Given the description of an element on the screen output the (x, y) to click on. 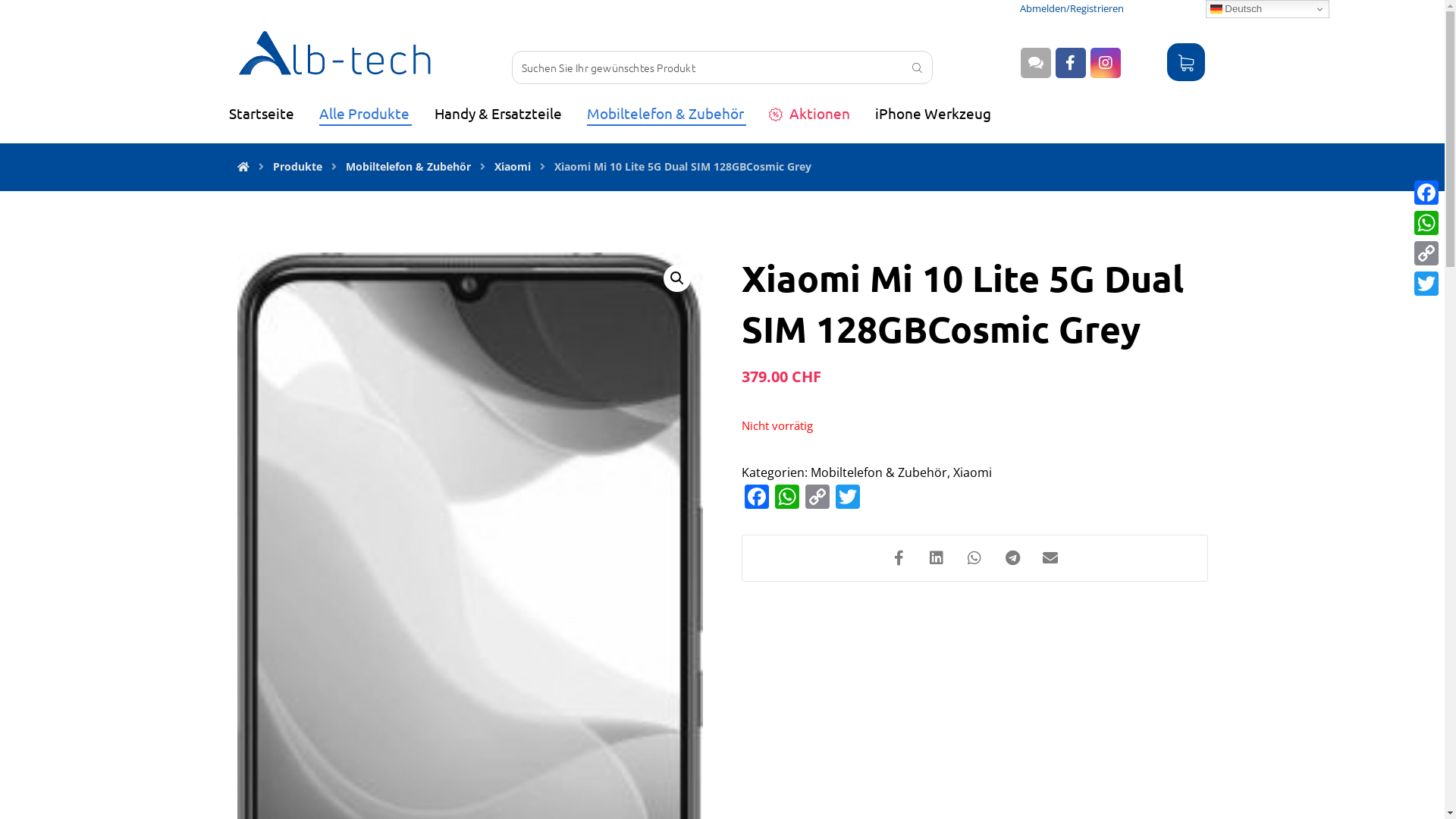
Xiaomi Mi 10 Lite 5G Dual SIM 128GBCosmic Grey Element type: text (681, 166)
Produkte Element type: text (297, 166)
Xiaomi Element type: text (512, 166)
Copy Link Element type: text (817, 497)
Deutsch Element type: text (1267, 9)
Facebook Element type: text (756, 497)
Xiaomi Element type: text (972, 472)
Handy & Ersatzteile Element type: text (498, 112)
WhatsApp Element type: text (786, 497)
Alle Produkte Element type: text (364, 112)
Facebook Element type: text (1426, 192)
iPhone Werkzeug Element type: text (934, 112)
Twitter Element type: text (847, 497)
Home page Element type: hover (242, 166)
Share on Linkedin Element type: hover (936, 557)
Twitter Element type: text (1426, 283)
Startseite Element type: text (262, 112)
Share by Whatsapp Element type: hover (974, 557)
Share by Email Element type: hover (1050, 557)
Share by Telegram Element type: hover (1012, 557)
WhatsApp Element type: text (1426, 222)
Copy Link Element type: text (1426, 253)
Aktionen Element type: text (810, 112)
Share on Facebook Element type: hover (898, 557)
